Given the description of an element on the screen output the (x, y) to click on. 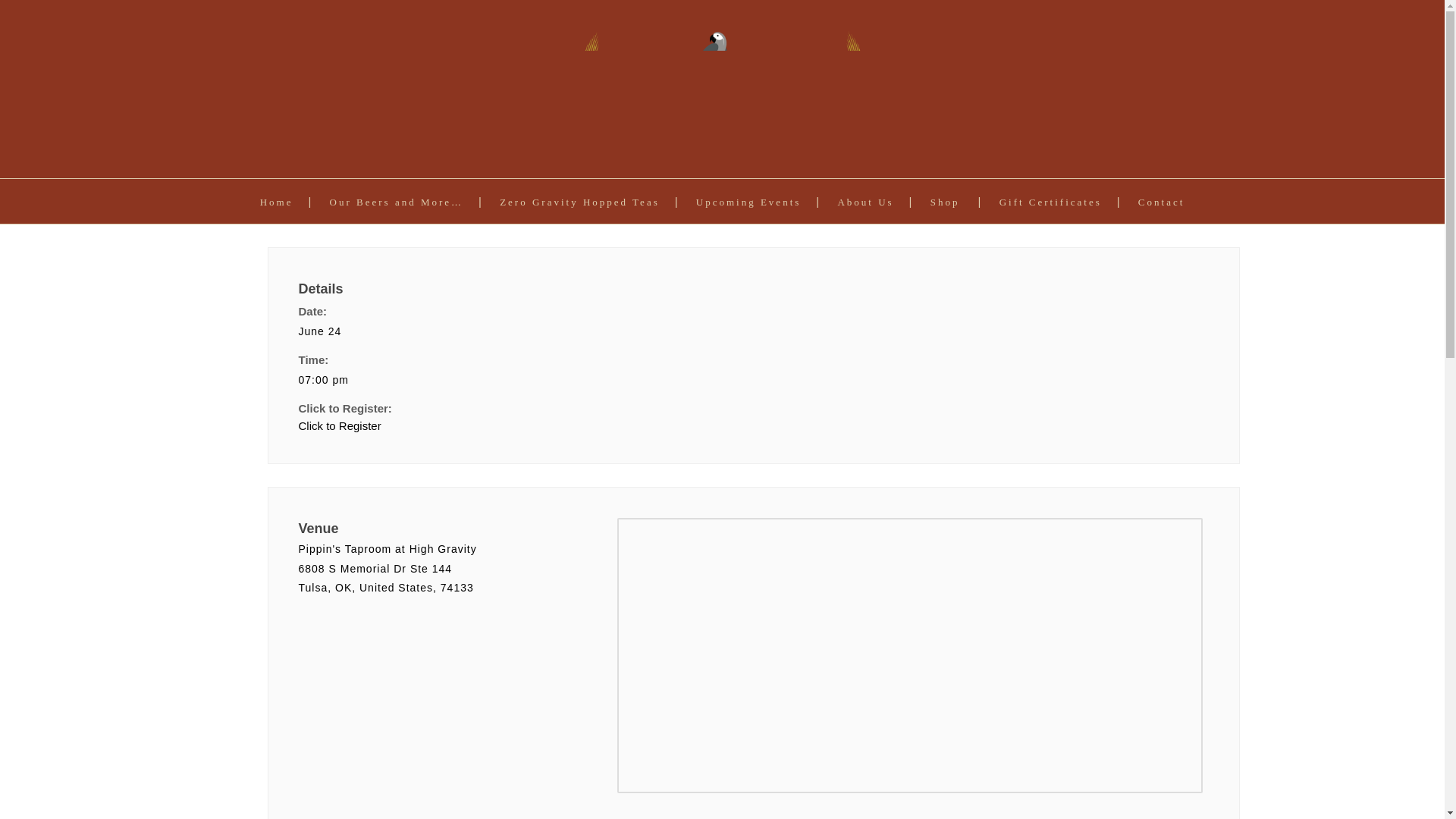
Home (277, 202)
Gift Certificates (1050, 202)
Zero Gravity Hopped Teas (579, 202)
Shop (944, 202)
Search (890, 409)
Click to Register (526, 426)
Contact (1161, 202)
Upcoming Events (748, 202)
About Us (865, 202)
